Given the description of an element on the screen output the (x, y) to click on. 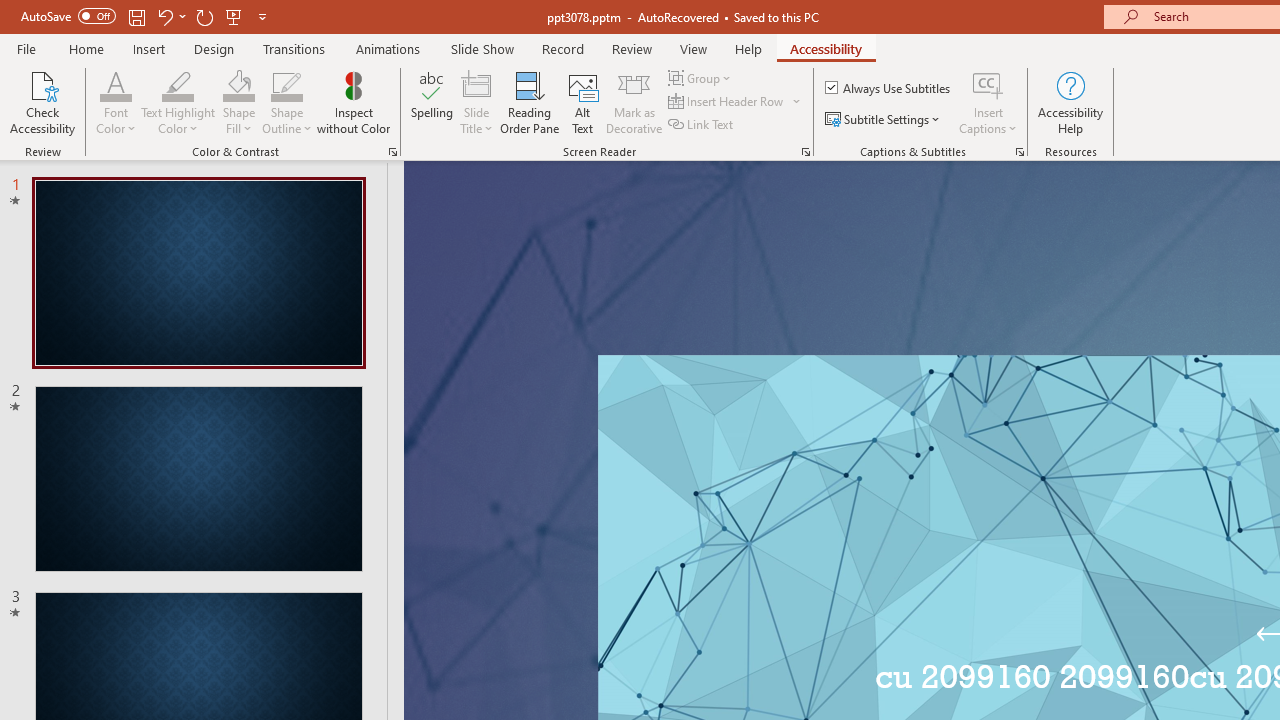
Subtitle Settings (884, 119)
Captions & Subtitles (1019, 151)
